Given the description of an element on the screen output the (x, y) to click on. 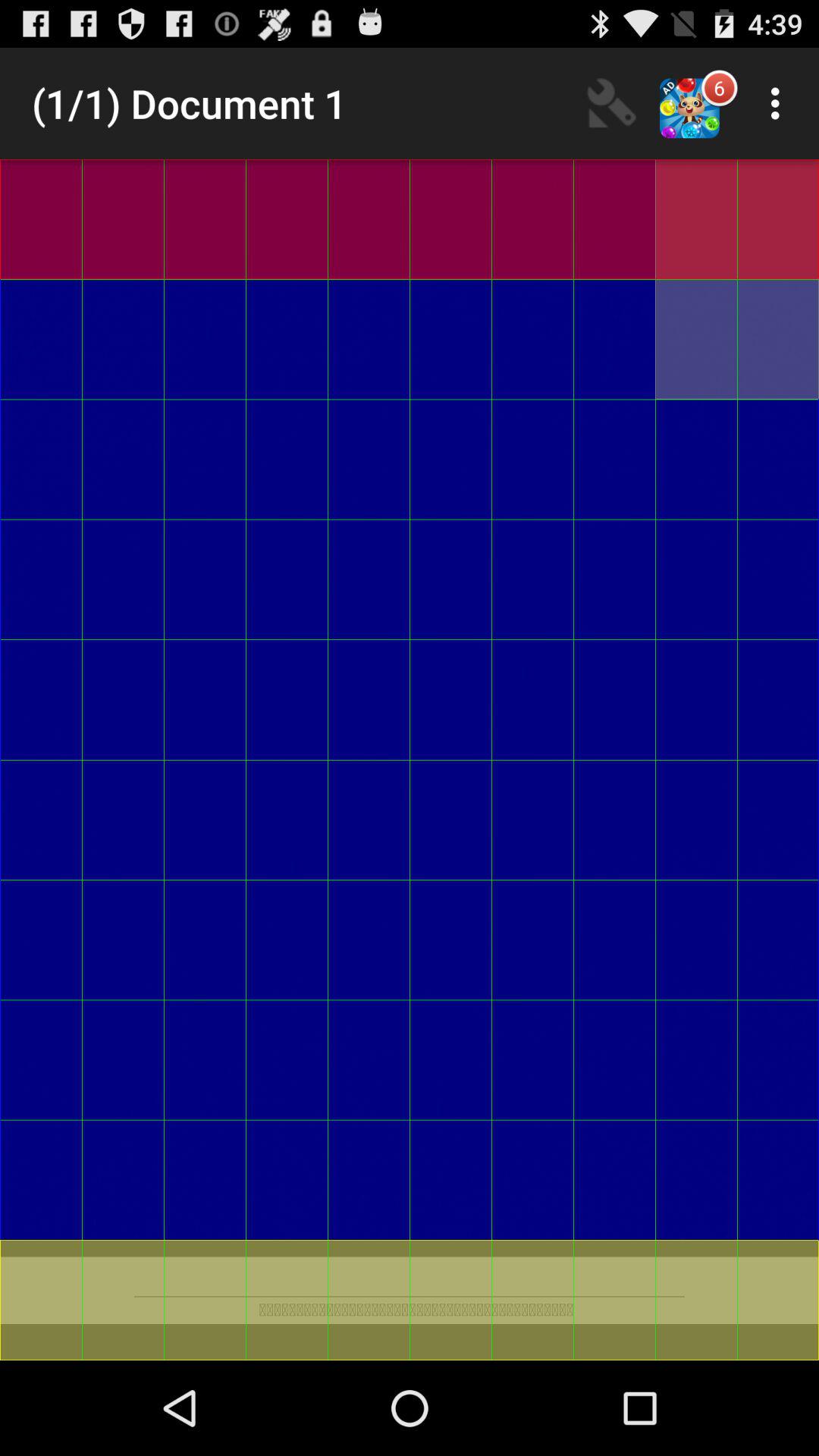
launch the app next to the 6 item (779, 103)
